Given the description of an element on the screen output the (x, y) to click on. 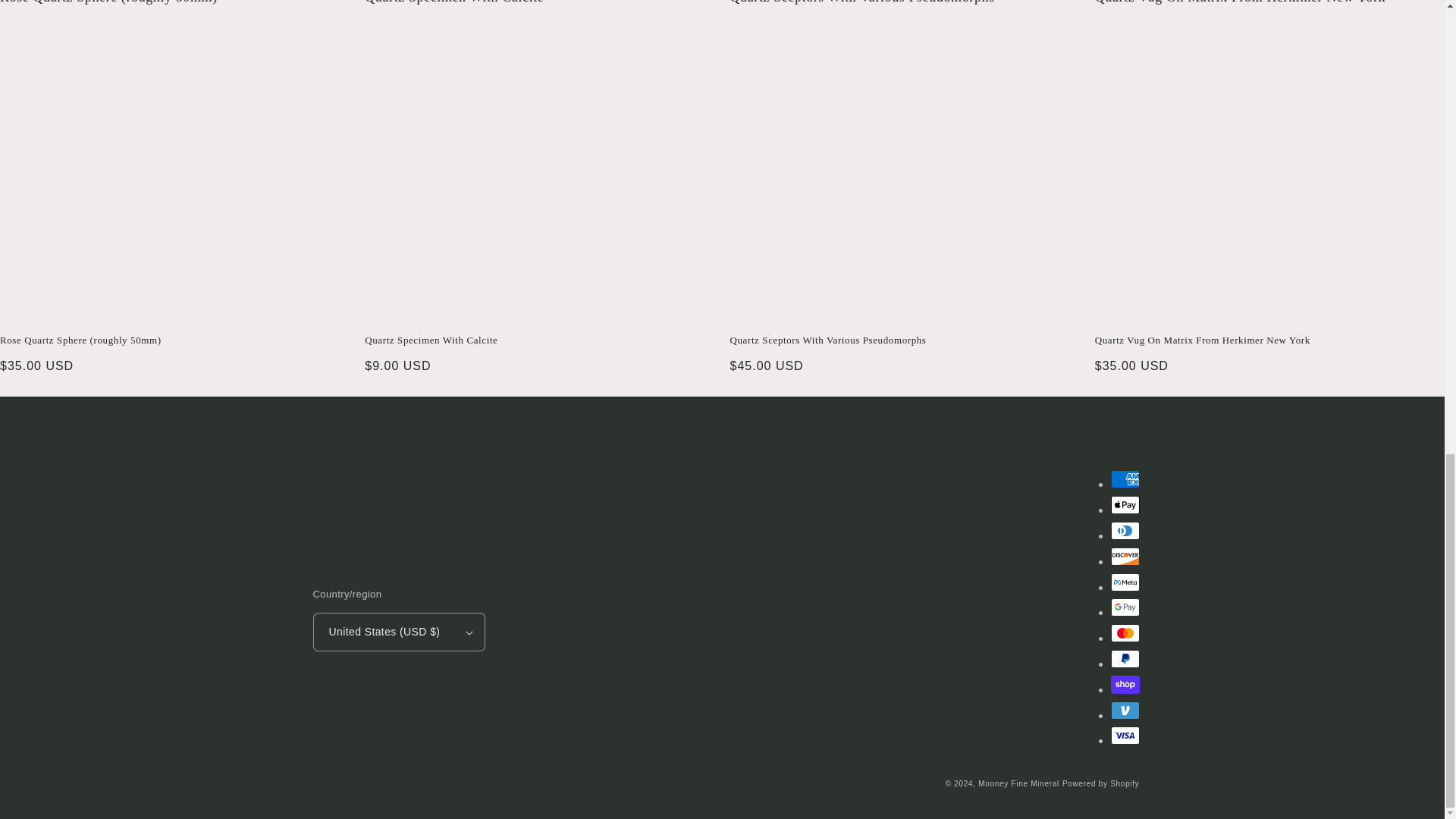
Google Pay (1123, 607)
Meta Pay (1123, 582)
Diners Club (1123, 530)
Apple Pay (1123, 505)
Discover (1123, 556)
American Express (1123, 479)
